Given the description of an element on the screen output the (x, y) to click on. 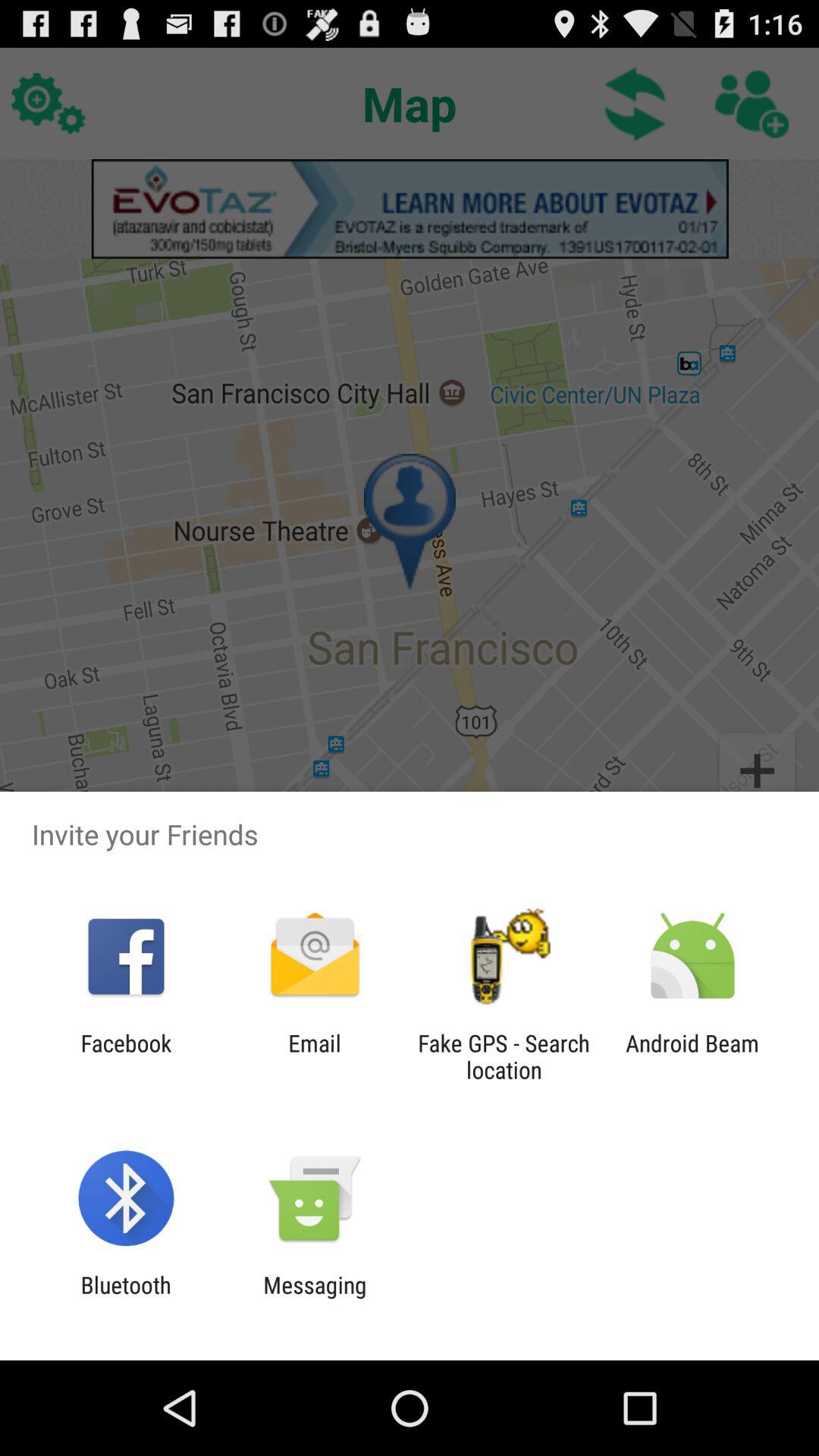
turn on item to the left of the messaging item (125, 1298)
